Given the description of an element on the screen output the (x, y) to click on. 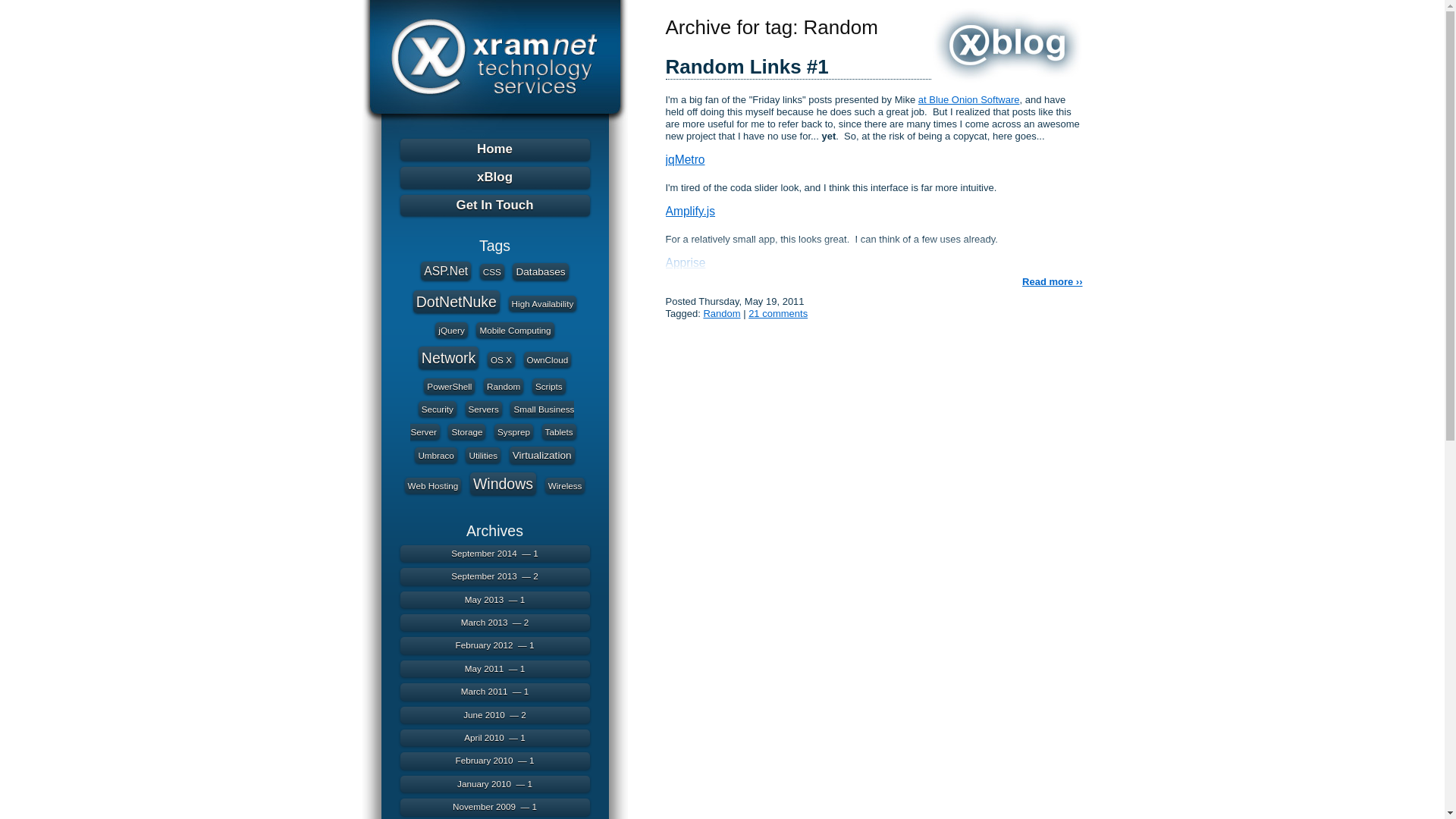
Scripts (549, 385)
Sysprep (513, 431)
Windows (502, 483)
2011-05-19T00:00:00 (750, 301)
Mobile Computing (514, 330)
Databases (539, 271)
Storage (466, 431)
Security (438, 408)
Web Hosting (432, 485)
Virtualization (542, 455)
DotNetNuke (456, 301)
Random (502, 385)
Home (494, 149)
OwnCloud (548, 359)
Servers (483, 408)
